Given the description of an element on the screen output the (x, y) to click on. 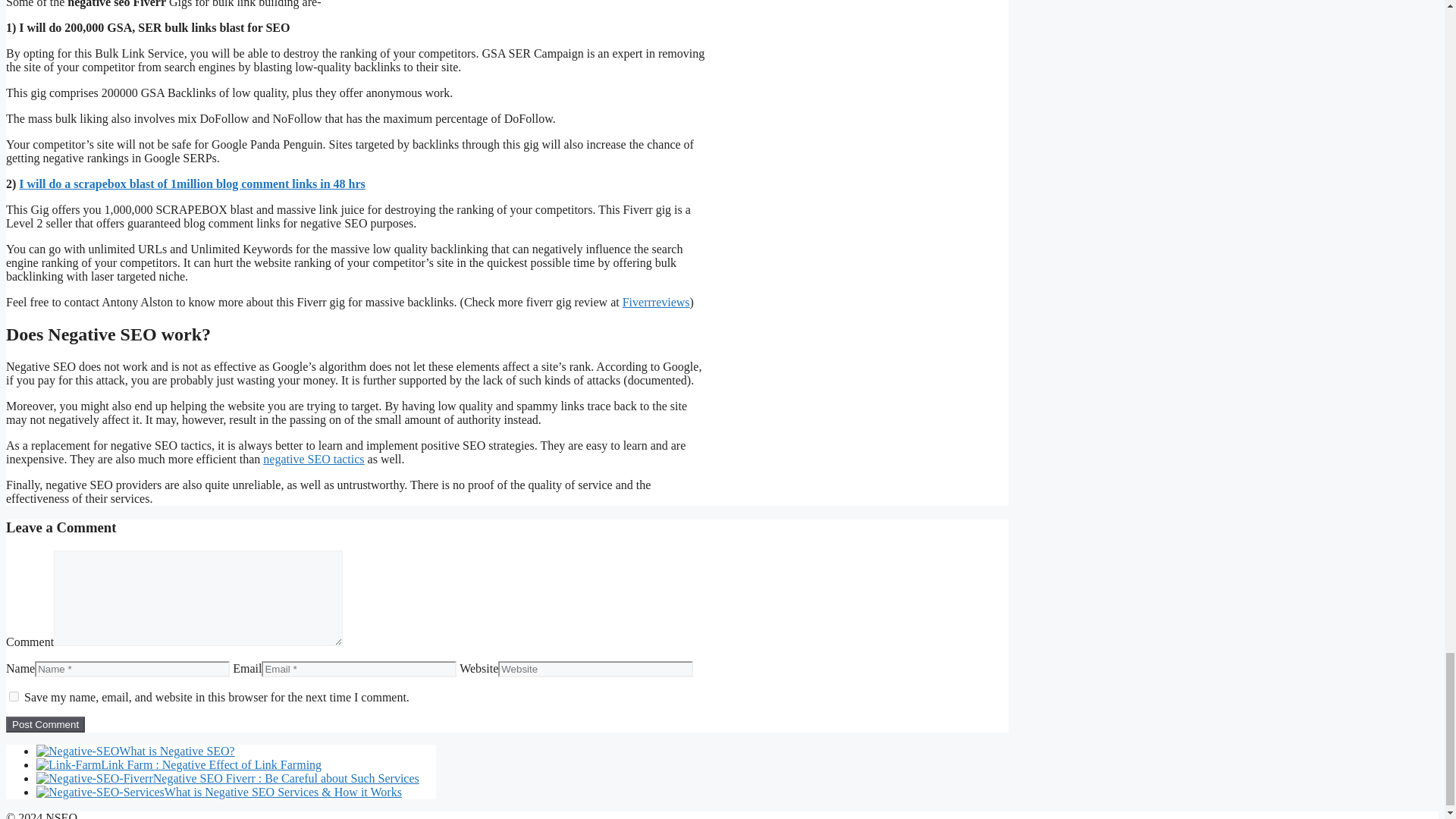
Post Comment (44, 724)
yes (13, 696)
Negative SEO Fiverr : Be Careful about Such Services (227, 778)
Fiverrreviews (656, 301)
Link Farm : Negative Effect of Link Farming (178, 764)
Post Comment (44, 724)
What is Negative SEO? (135, 750)
negative SEO tactics (313, 459)
